Given the description of an element on the screen output the (x, y) to click on. 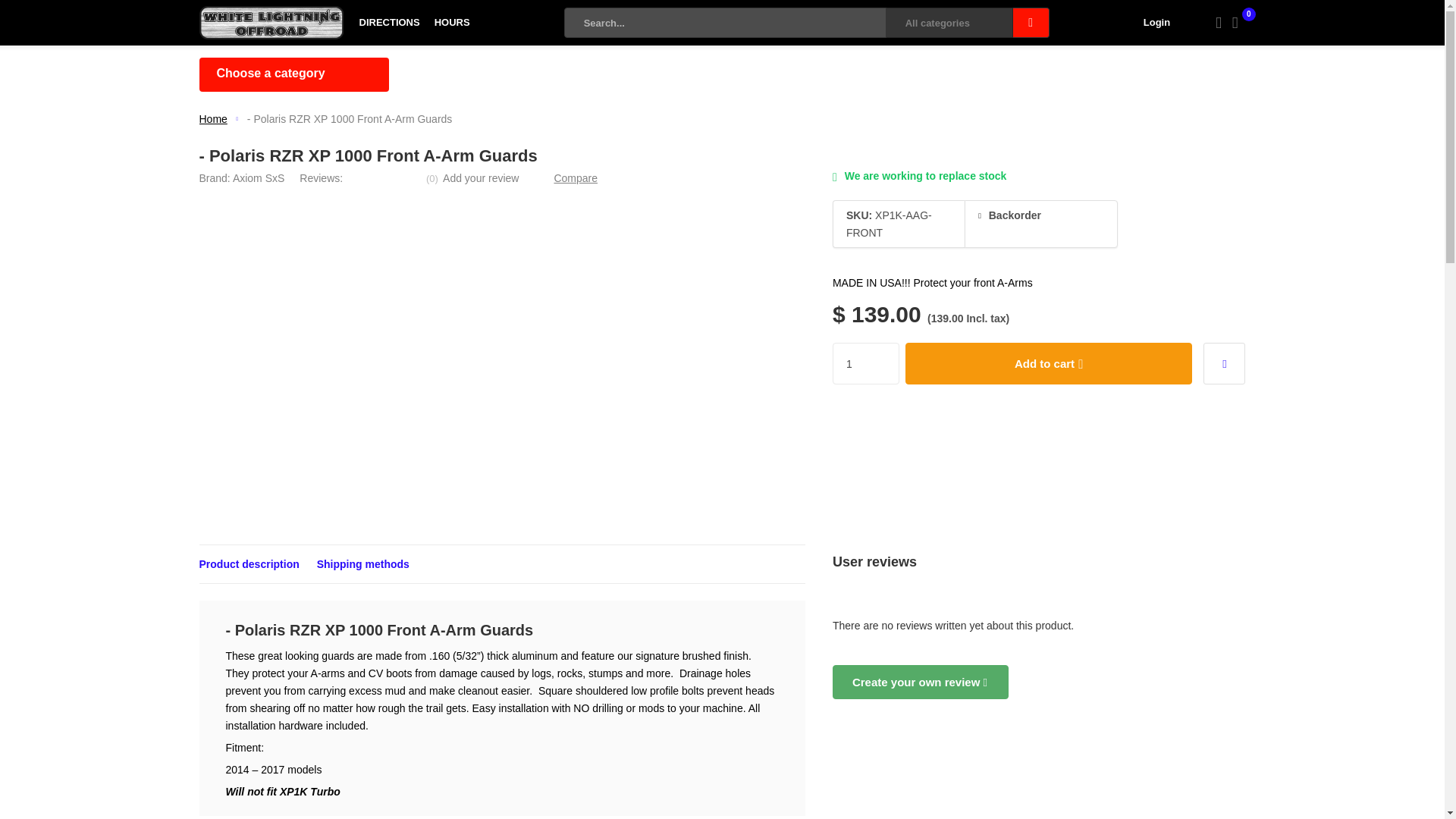
Search (1031, 22)
DIRECTIONS (389, 22)
Search (1031, 22)
